Given the description of an element on the screen output the (x, y) to click on. 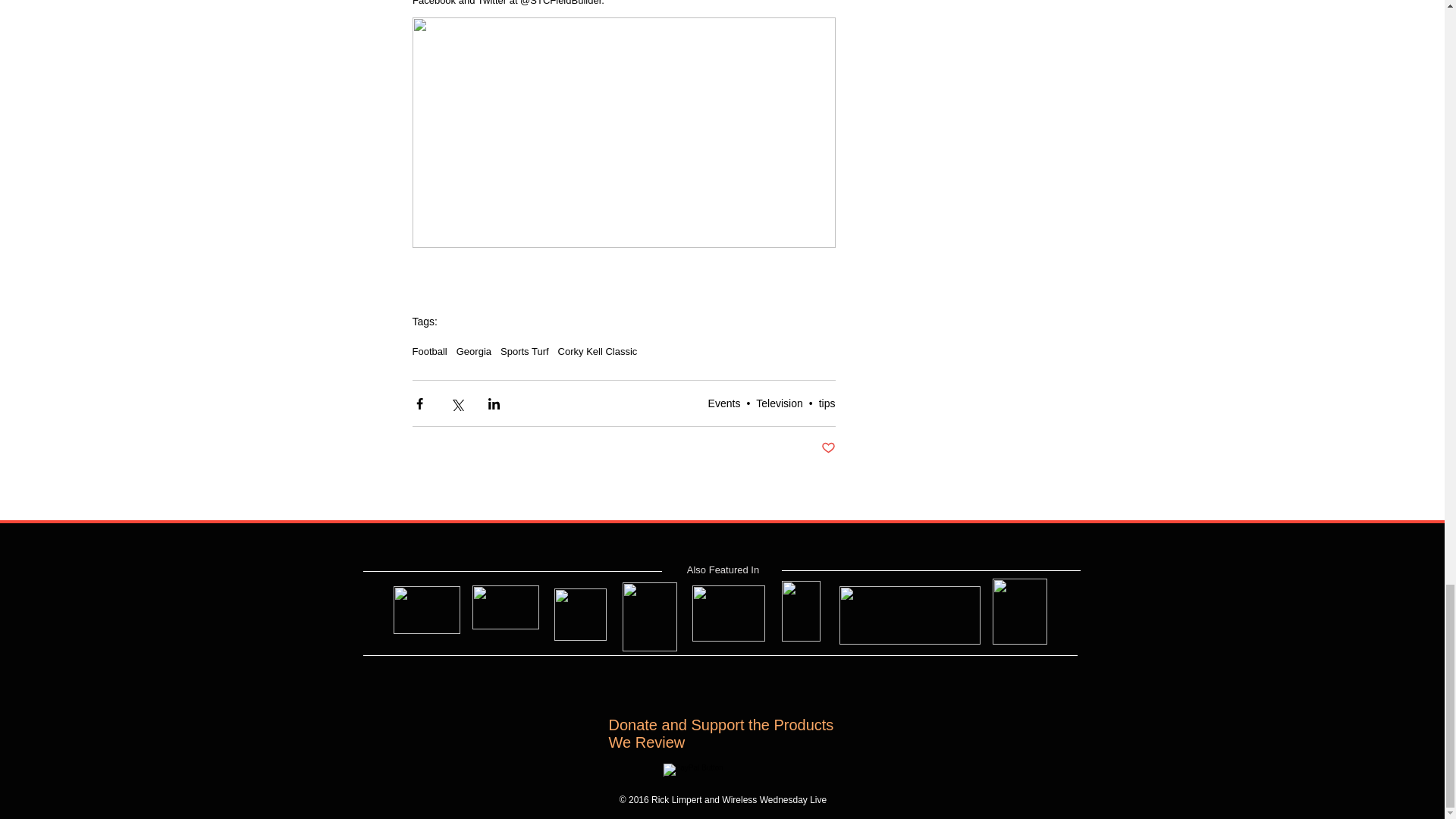
Post not marked as liked (827, 448)
tips (826, 403)
Georgia (474, 351)
Events (724, 403)
WWL17.jpg (908, 615)
WWL15.jpg (727, 613)
Television (778, 403)
sam crenshaw3.jpg (426, 609)
WWL12.jpg (504, 607)
WWL13.jpg (579, 614)
